Given the description of an element on the screen output the (x, y) to click on. 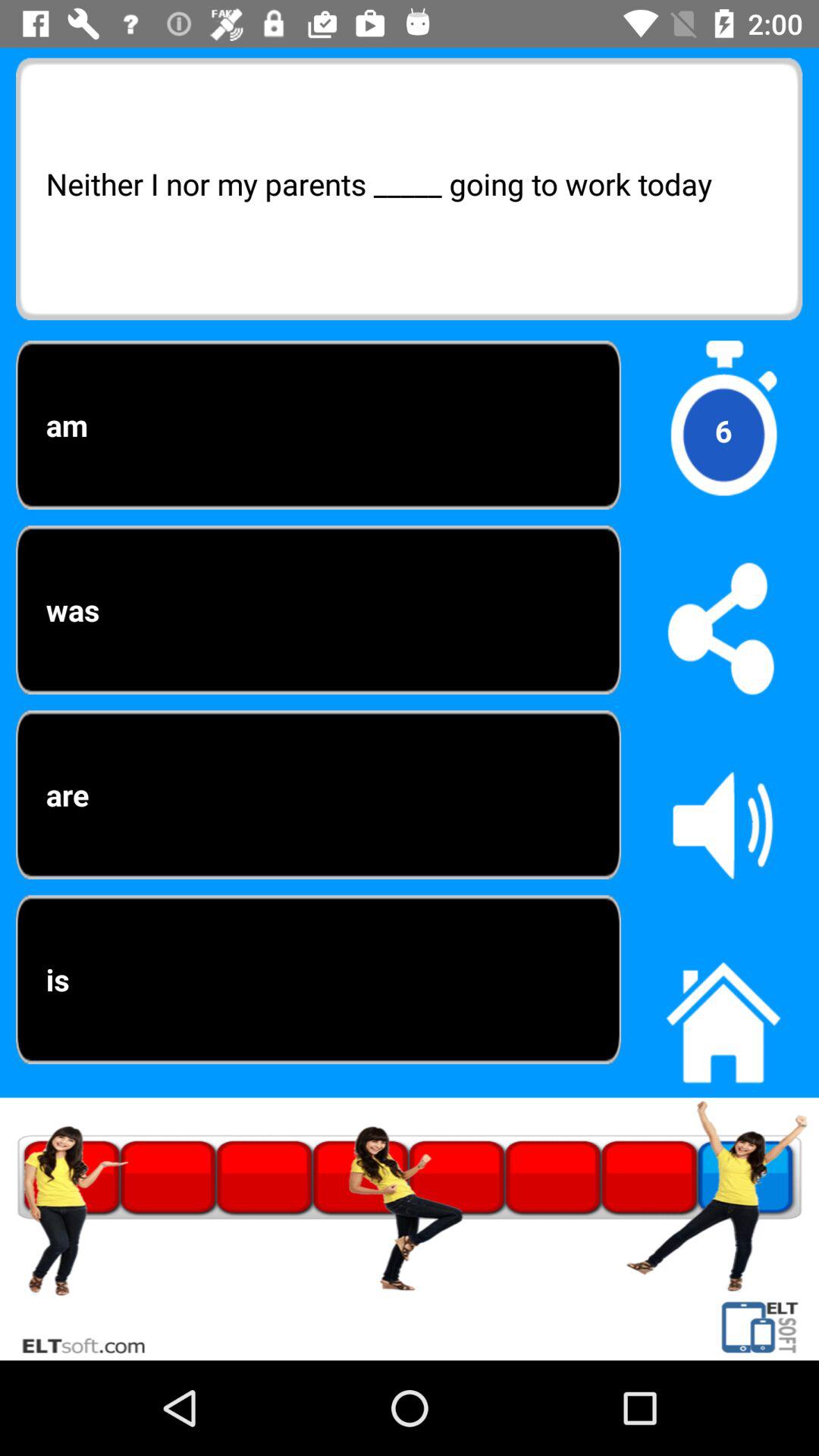
click on the was option (317, 609)
select the third option (317, 794)
click on the option which looks like a watch (723, 430)
click on am (317, 424)
